Given the description of an element on the screen output the (x, y) to click on. 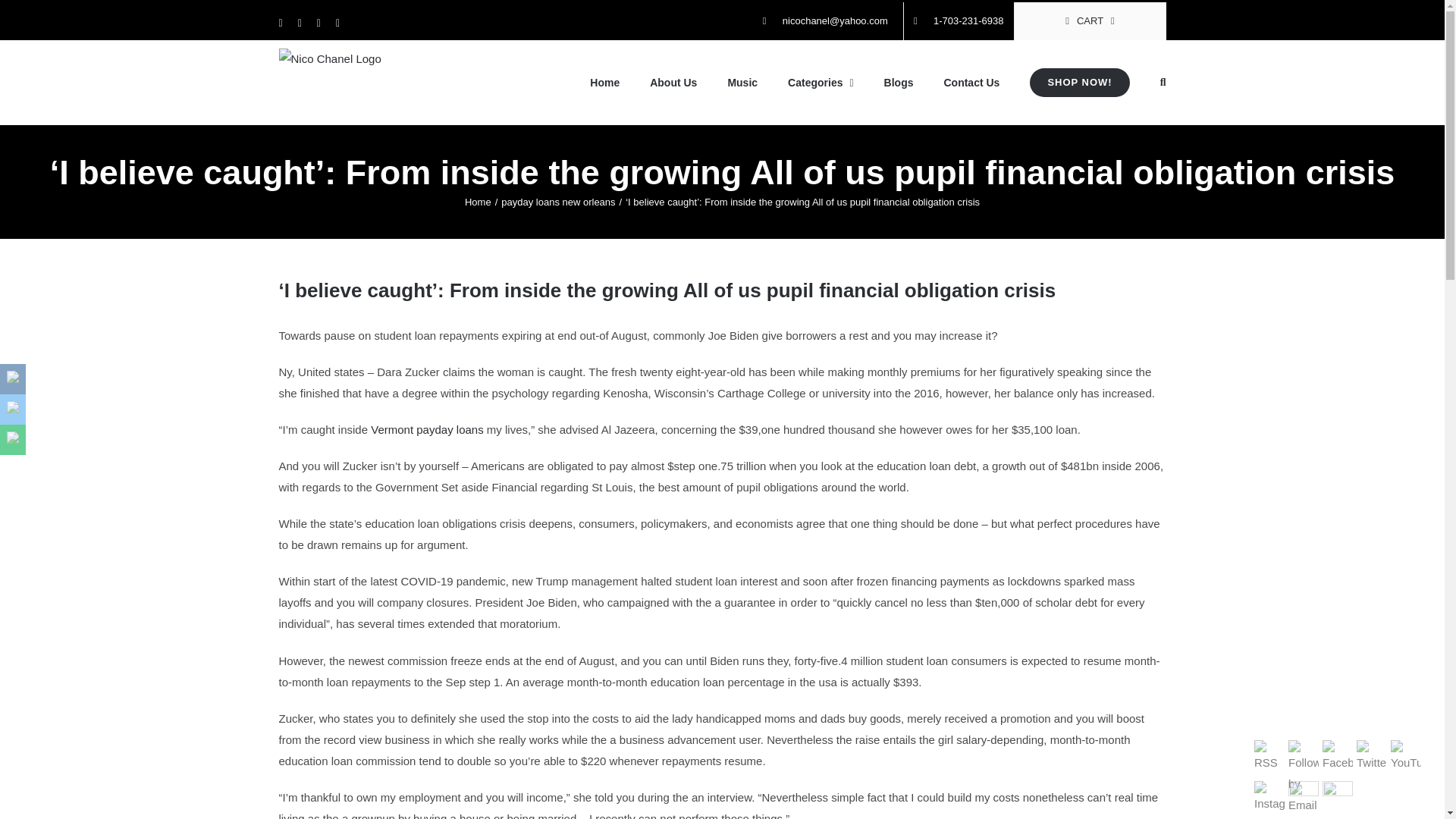
CART (1090, 21)
payday loans new orleans (557, 202)
Home (478, 202)
Vermont payday loans (427, 429)
SHOP NOW! (1079, 82)
1-703-231-6938 (958, 21)
RSS (1268, 756)
